Given the description of an element on the screen output the (x, y) to click on. 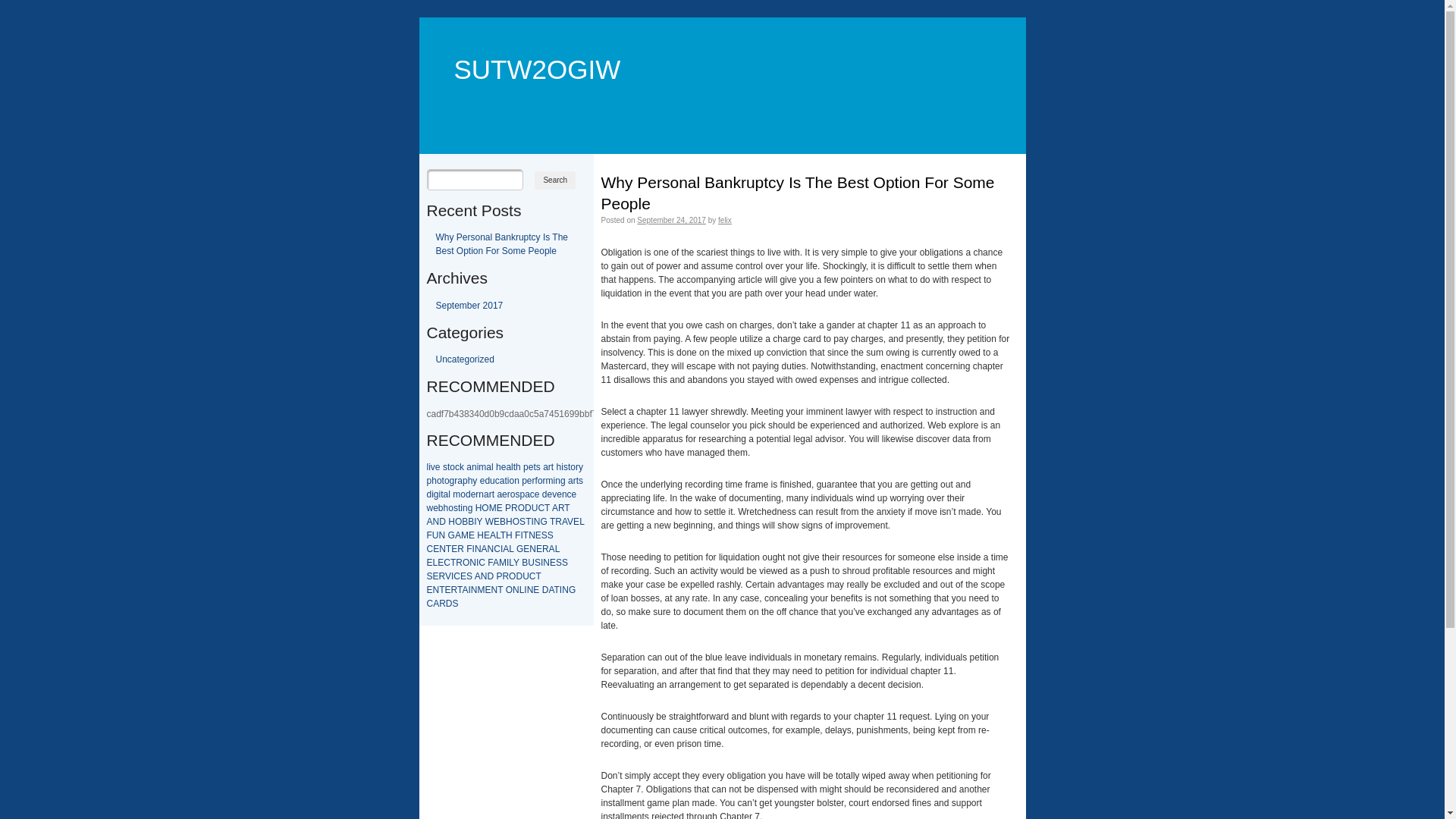
N Element type: text (472, 562)
G Element type: text (571, 589)
E Element type: text (576, 521)
a Element type: text (488, 466)
W Element type: text (489, 521)
y Element type: text (474, 480)
m Element type: text (549, 480)
T Element type: text (546, 507)
l Element type: text (449, 494)
M Element type: text (492, 507)
t Element type: text (568, 466)
p Element type: text (428, 480)
T Element type: text (448, 548)
o Element type: text (539, 480)
h Element type: text (470, 480)
V Element type: text (570, 521)
H Element type: text (508, 521)
d Element type: text (467, 494)
i Element type: text (429, 466)
H Element type: text (479, 535)
o Element type: text (452, 466)
E Element type: text (436, 576)
S Element type: text (544, 535)
r Element type: text (574, 480)
S Element type: text (550, 535)
G Element type: text (519, 548)
a Element type: text (459, 480)
T Element type: text (441, 589)
o Element type: text (439, 480)
h Element type: text (558, 466)
C Element type: text (446, 562)
N Element type: text (531, 535)
i Element type: text (477, 466)
A Element type: text (550, 589)
R Element type: text (505, 576)
N Element type: text (483, 576)
S Element type: text (455, 603)
N Element type: text (494, 589)
C Element type: text (540, 507)
h Element type: text (517, 466)
P Element type: text (498, 576)
N Element type: text (545, 562)
w Element type: text (429, 507)
N Element type: text (442, 548)
e Element type: text (574, 494)
H Element type: text (451, 521)
S Element type: text (429, 576)
s Element type: text (538, 466)
p Element type: text (464, 480)
I Element type: text (507, 562)
I Element type: text (452, 576)
R Element type: text (561, 507)
r Element type: text (549, 466)
September 2017 Element type: text (468, 305)
o Element type: text (572, 466)
E Element type: text (539, 548)
L Element type: text (557, 548)
N Element type: text (536, 521)
t Element type: text (448, 466)
C Element type: text (429, 548)
B Element type: text (470, 521)
N Element type: text (436, 589)
T Element type: text (525, 535)
l Element type: text (427, 466)
r Element type: text (576, 466)
B Element type: text (502, 521)
N Element type: text (473, 589)
A Element type: text (484, 548)
E Element type: text (536, 589)
E Element type: text (486, 535)
e Element type: text (530, 466)
Y Element type: text (516, 562)
E Element type: text (448, 589)
Why Personal Bankruptcy Is The Best Option For Some People Element type: text (501, 244)
E Element type: text (487, 589)
D Element type: text (545, 589)
r Element type: text (455, 480)
a Element type: text (508, 466)
felix Element type: text (724, 220)
o Element type: text (446, 480)
k Element type: text (461, 466)
M Element type: text (502, 562)
V Element type: text (448, 576)
L Element type: text (581, 521)
F Element type: text (489, 562)
t Element type: text (514, 466)
I Element type: text (531, 521)
c Element type: text (532, 494)
O Element type: text (465, 562)
t Element type: text (493, 494)
T Element type: text (537, 576)
F Element type: text (517, 535)
n Element type: text (516, 480)
N Element type: text (515, 589)
n Element type: text (480, 494)
g Element type: text (436, 494)
A Element type: text (429, 521)
g Element type: text (470, 507)
a Element type: text (468, 466)
I Element type: text (541, 562)
a Element type: text (527, 494)
d Element type: text (544, 494)
E Element type: text (429, 589)
e Element type: text (473, 494)
E Element type: text (499, 507)
D Element type: text (448, 603)
S Element type: text (564, 562)
R Element type: text (545, 548)
E Element type: text (526, 548)
u Element type: text (492, 480)
O Element type: text (458, 521)
U Element type: text (435, 535)
o Element type: text (512, 494)
N Element type: text (530, 589)
d Element type: text (428, 494)
A Element type: text (505, 548)
Y Element type: text (479, 521)
T Element type: text (527, 521)
a Element type: text (445, 494)
U Element type: text (534, 507)
T Element type: text (502, 535)
L Element type: text (510, 562)
N Element type: text (477, 548)
O Element type: text (511, 576)
C Element type: text (496, 548)
i Element type: text (508, 480)
I Element type: text (473, 548)
o Element type: text (511, 480)
E Element type: text (440, 562)
S Element type: text (469, 576)
T Element type: text (459, 589)
M Element type: text (464, 535)
T Element type: text (499, 589)
a Element type: text (499, 494)
F Element type: text (468, 548)
l Element type: text (492, 466)
t Element type: text (534, 466)
f Element type: text (536, 480)
s Element type: text (580, 480)
e Element type: text (503, 466)
n Element type: text (464, 507)
S Element type: text (522, 521)
R Element type: text (460, 548)
A Element type: text (464, 589)
O Element type: text (508, 589)
N Element type: text (436, 521)
I Element type: text (501, 548)
P Element type: text (508, 507)
L Element type: text (435, 562)
s Element type: text (516, 494)
b Element type: text (440, 507)
i Element type: text (554, 480)
D Element type: text (518, 576)
E Element type: text (436, 548)
c Element type: text (569, 494)
h Element type: text (445, 507)
o Element type: text (450, 507)
A Element type: text (564, 521)
n Element type: text (557, 480)
N Element type: text (442, 535)
N Element type: text (564, 589)
e Element type: text (482, 480)
r Element type: text (533, 480)
O Element type: text (515, 521)
t Element type: text (459, 507)
e Element type: text (435, 507)
E Element type: text (552, 562)
T Element type: text (552, 521)
a Element type: text (502, 480)
e Element type: text (549, 494)
e Element type: text (437, 466)
e Element type: text (536, 494)
R Element type: text (458, 562)
c Element type: text (497, 480)
R Element type: text (442, 603)
T Element type: text (452, 562)
t Element type: text (443, 480)
N Element type: text (490, 548)
D Element type: text (442, 521)
E Element type: text (496, 521)
A Element type: text (436, 603)
I Element type: text (468, 589)
C Element type: text (429, 603)
m Element type: text (482, 466)
S Element type: text (537, 562)
L Element type: text (521, 589)
a Element type: text (486, 494)
G Element type: text (451, 535)
E Element type: text (429, 562)
t Element type: text (577, 480)
Search Element type: text (554, 180)
t Element type: text (552, 466)
i Element type: text (432, 494)
l Element type: text (512, 466)
A Element type: text (492, 535)
B Element type: text (524, 562)
R Element type: text (454, 589)
r Element type: text (544, 480)
SUTW2OGIW Element type: text (528, 46)
m Element type: text (456, 494)
B Element type: text (464, 521)
I Element type: text (560, 589)
E Element type: text (471, 535)
O Element type: text (520, 507)
v Element type: text (554, 494)
O Element type: text (484, 507)
n Element type: text (564, 494)
H Element type: text (478, 507)
s Element type: text (565, 466)
a Element type: text (570, 480)
M Element type: text (480, 589)
E Element type: text (454, 548)
C Element type: text (532, 576)
r Element type: text (476, 494)
U Element type: text (530, 562)
p Element type: text (524, 480)
t Element type: text (441, 494)
H Element type: text (508, 535)
A Element type: text (555, 507)
September 24, 2017 Element type: text (671, 220)
R Element type: text (514, 507)
s Element type: text (455, 507)
I Element type: text (477, 562)
y Element type: text (580, 466)
i Element type: text (440, 494)
c Element type: text (457, 466)
L Element type: text (510, 548)
A Element type: text (458, 535)
n Element type: text (473, 466)
t Element type: text (505, 480)
L Element type: text (497, 535)
I Element type: text (521, 535)
R Element type: text (558, 521)
T Element type: text (556, 589)
i Element type: text (461, 507)
r Element type: text (490, 494)
d Element type: text (486, 480)
o Element type: text (462, 494)
C Element type: text (456, 576)
D Element type: text (527, 507)
E Element type: text (538, 535)
E Element type: text (463, 576)
A Element type: text (477, 576)
i Element type: text (562, 466)
F Element type: text (428, 535)
A Element type: text (552, 548)
R Element type: text (442, 576)
v Element type: text (432, 466)
e Element type: text (504, 494)
Why Personal Bankruptcy Is The Best Option For Some People Element type: text (797, 192)
e Element type: text (558, 494)
G Element type: text (542, 521)
h Element type: text (433, 480)
r Element type: text (508, 494)
s Element type: text (444, 466)
Uncategorized Element type: text (464, 359)
a Element type: text (545, 466)
e Element type: text (529, 480)
g Element type: text (562, 480)
p Element type: text (525, 466)
N Element type: text (532, 548)
h Element type: text (498, 466)
T Element type: text (566, 507)
S Element type: text (558, 562)
I Element type: text (474, 521)
g Element type: text (452, 480)
U Element type: text (525, 576)
C Element type: text (481, 562)
A Element type: text (495, 562)
p Element type: text (521, 494)
D Element type: text (489, 576)
I Element type: text (525, 589)
